Given the description of an element on the screen output the (x, y) to click on. 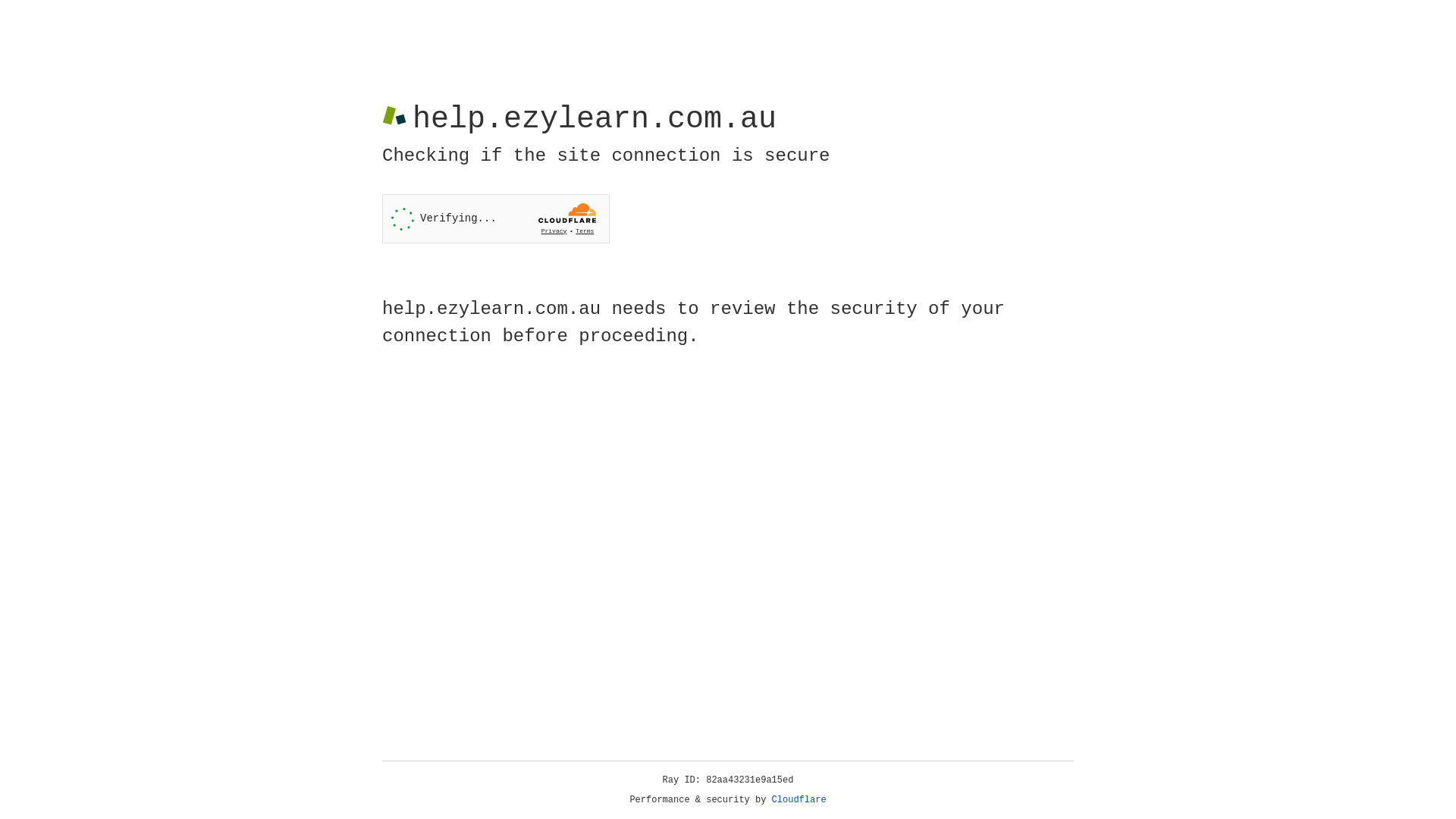
Cloudflare Element type: text (798, 799)
Widget containing a Cloudflare security challenge Element type: hover (495, 218)
